Given the description of an element on the screen output the (x, y) to click on. 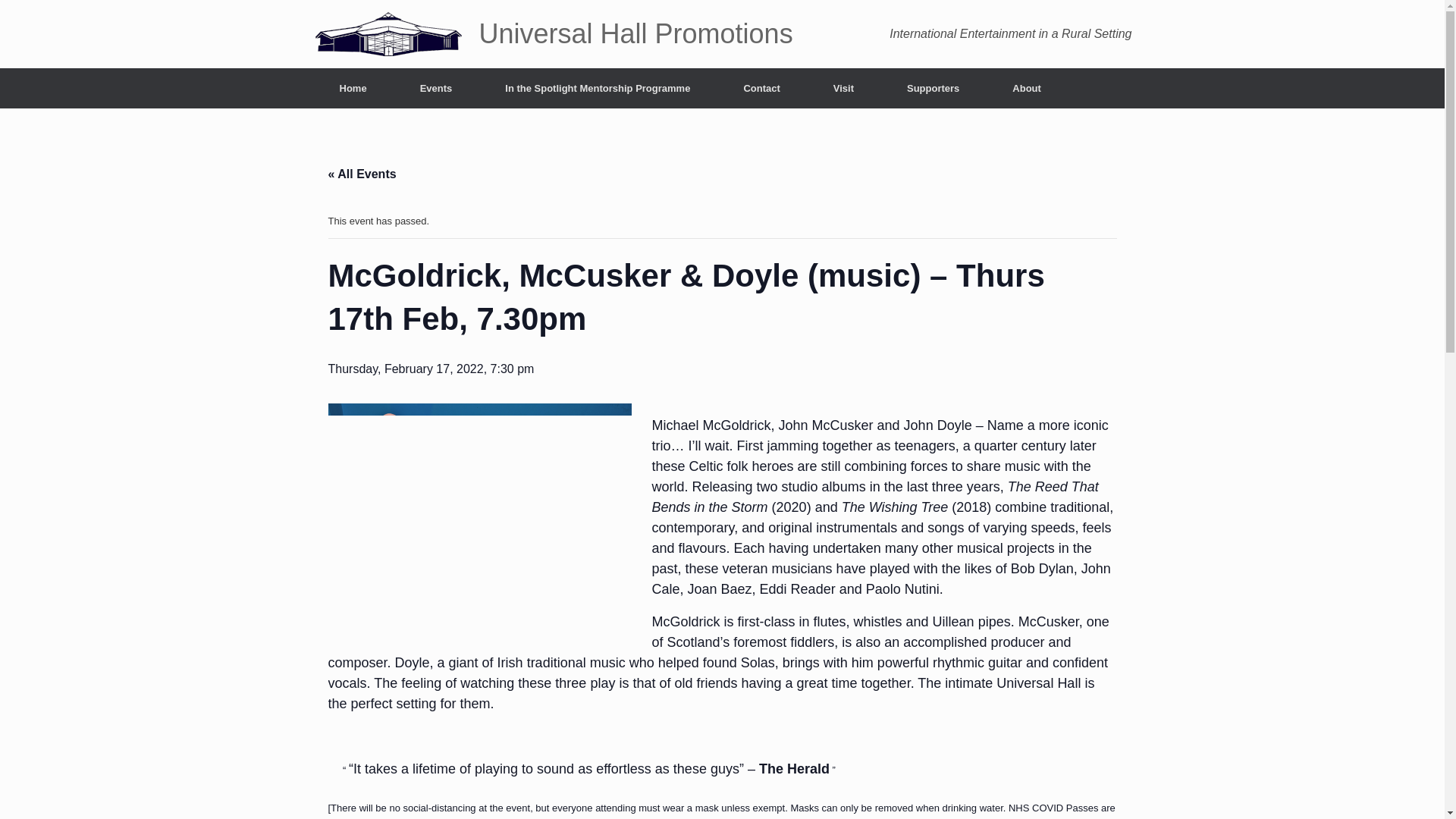
Universal Hall Promotions (552, 33)
About (1026, 87)
Contact (761, 87)
Events (436, 87)
Home (353, 87)
Supporters (932, 87)
Visit (843, 87)
In the Spotlight Mentorship Programme (597, 87)
Universal Hall Promotions (552, 33)
